Given the description of an element on the screen output the (x, y) to click on. 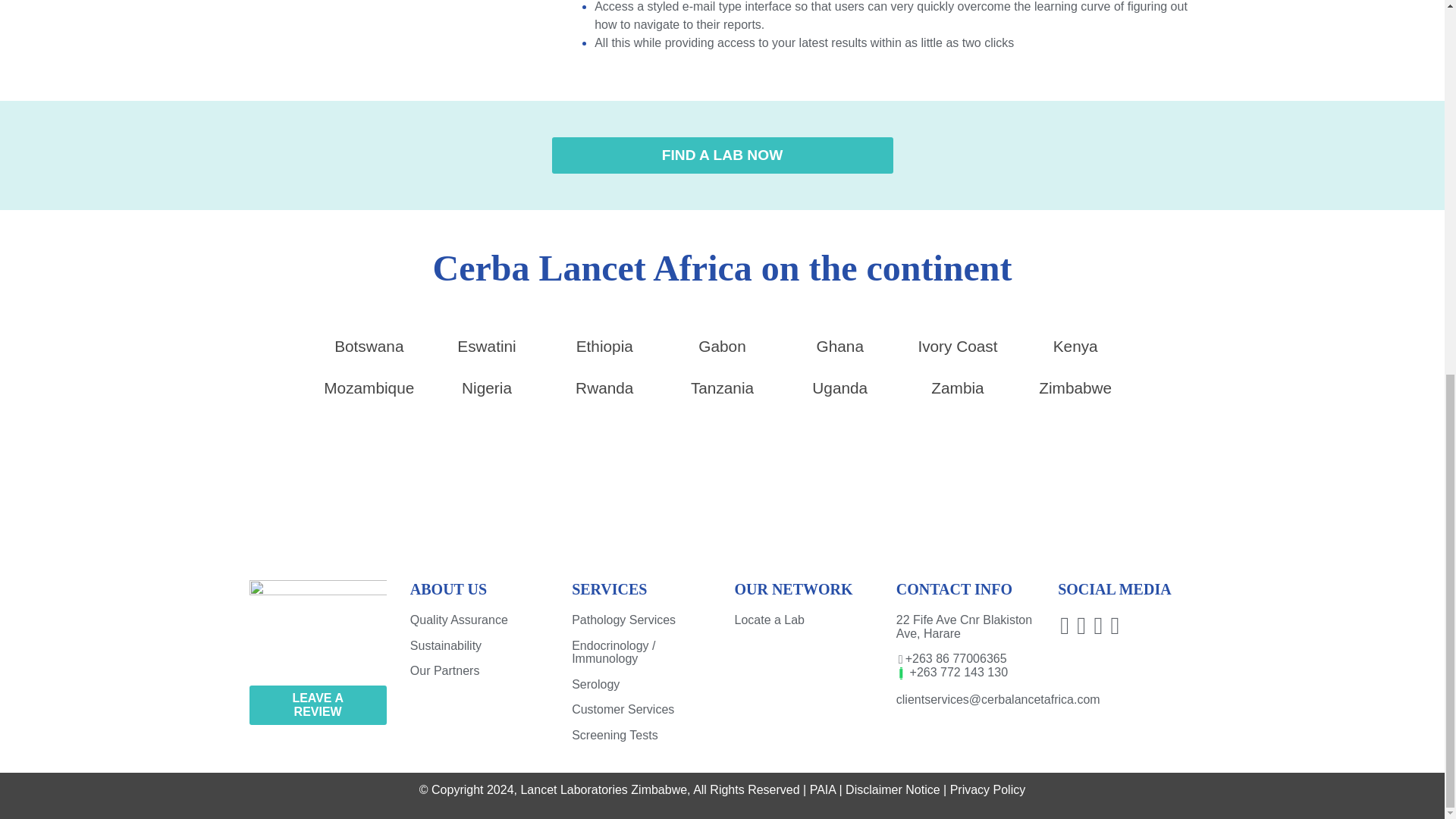
Botswana (369, 347)
Ghana (839, 347)
FIND A LAB NOW (722, 155)
Eswatini (486, 347)
Ethiopia (603, 347)
Gabon (721, 347)
